Given the description of an element on the screen output the (x, y) to click on. 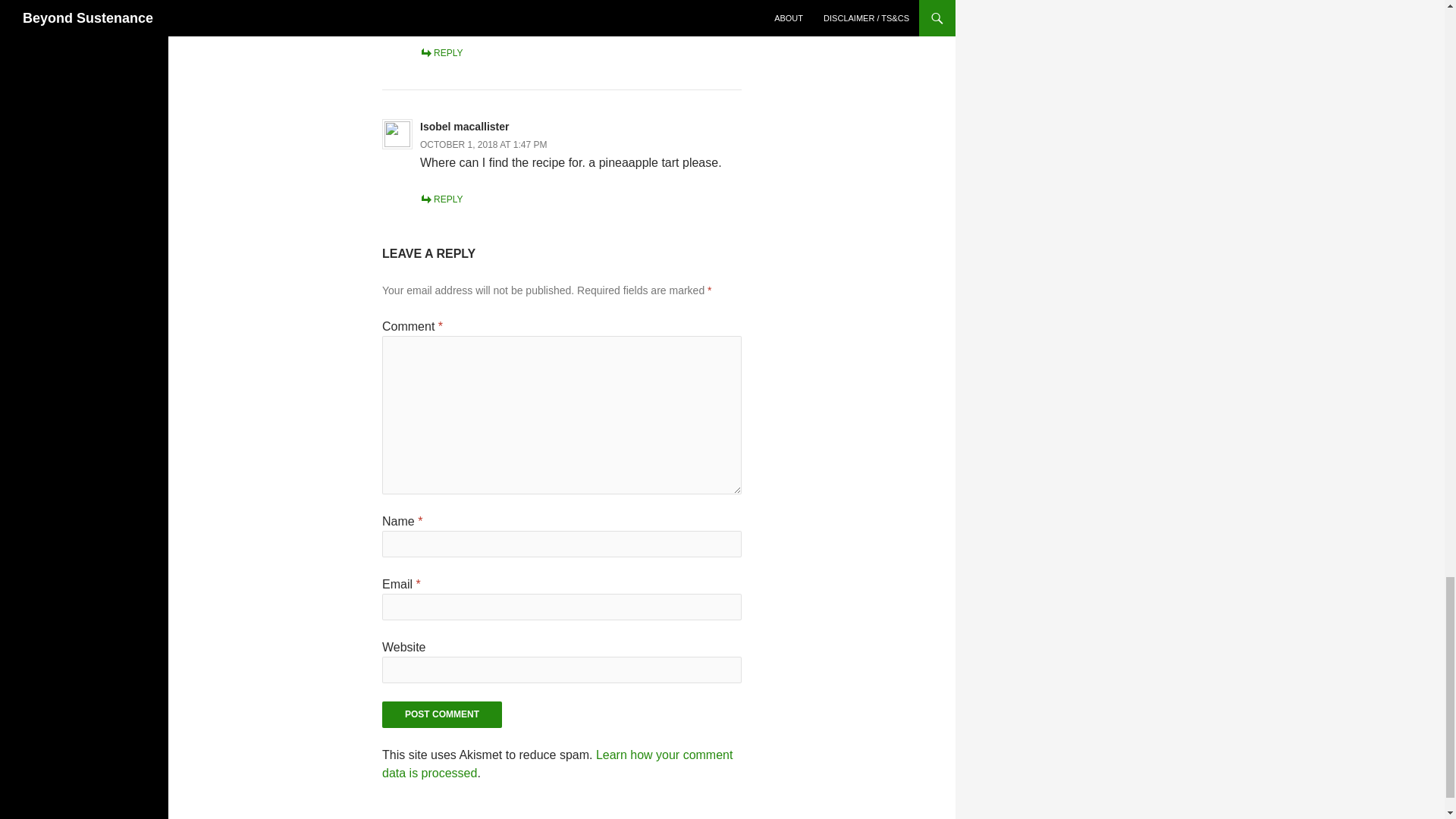
Learn how your comment data is processed (556, 763)
Post Comment (441, 714)
REPLY (441, 52)
REPLY (441, 199)
OCTOBER 1, 2018 AT 1:47 PM (483, 144)
Post Comment (441, 714)
Isobel macallister (464, 126)
